Given the description of an element on the screen output the (x, y) to click on. 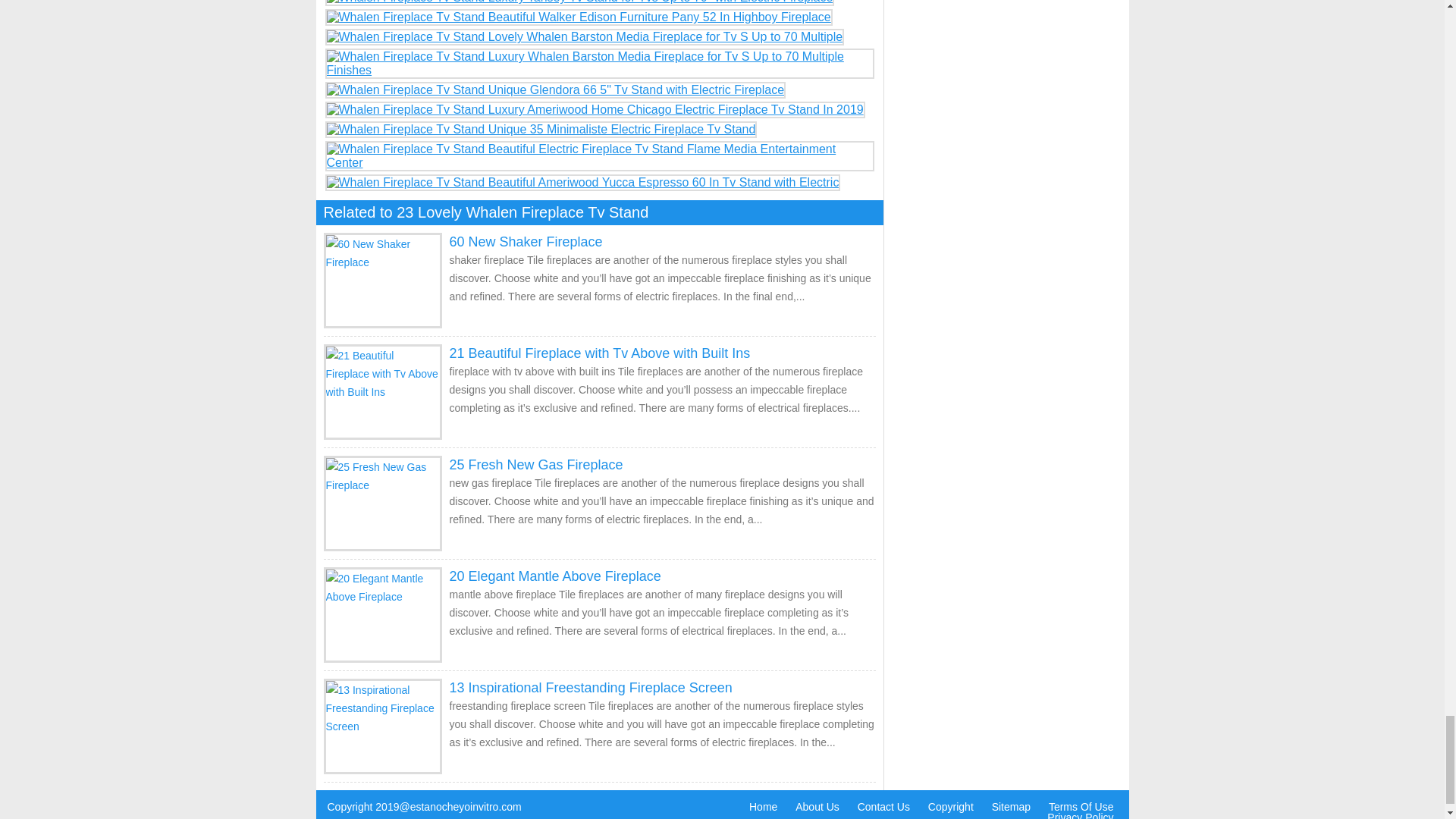
60 New Shaker Fireplace (525, 241)
